Given the description of an element on the screen output the (x, y) to click on. 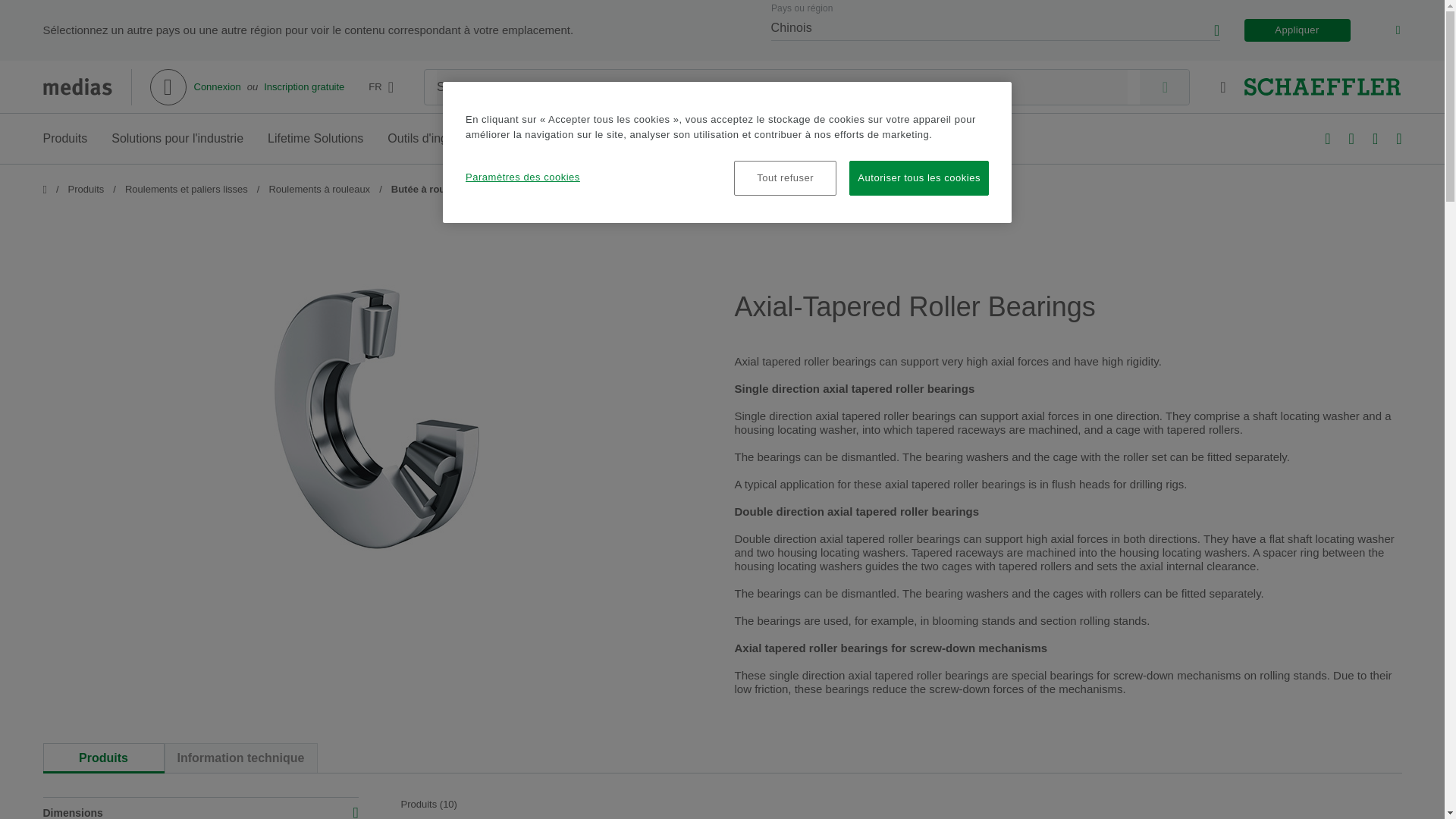
Produits (102, 757)
Roulements et paliers lisses (186, 189)
Produits (86, 189)
Information technique (240, 757)
Inscription gratuite (721, 757)
Connexion (303, 87)
Appliquer (217, 87)
